Given the description of an element on the screen output the (x, y) to click on. 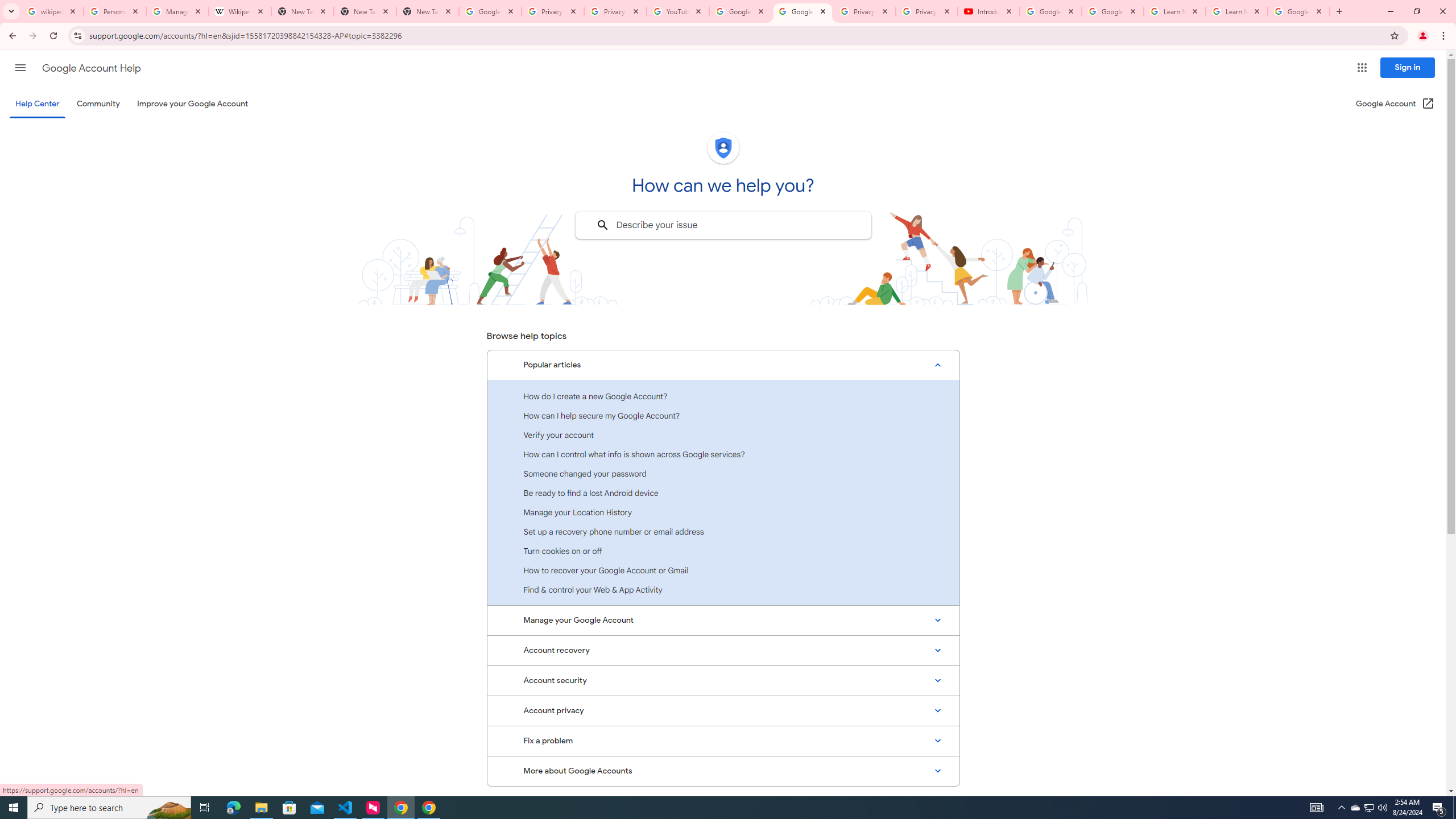
New Tab (365, 11)
Google Account Help (91, 68)
Set up a recovery phone number or email address (722, 531)
Personalization & Google Search results - Google Search Help (114, 11)
Verify your account (722, 434)
Account privacy (722, 710)
Fix a problem (722, 740)
Find & control your Web & App Activity (722, 589)
How to recover your Google Account or Gmail (722, 570)
